Given the description of an element on the screen output the (x, y) to click on. 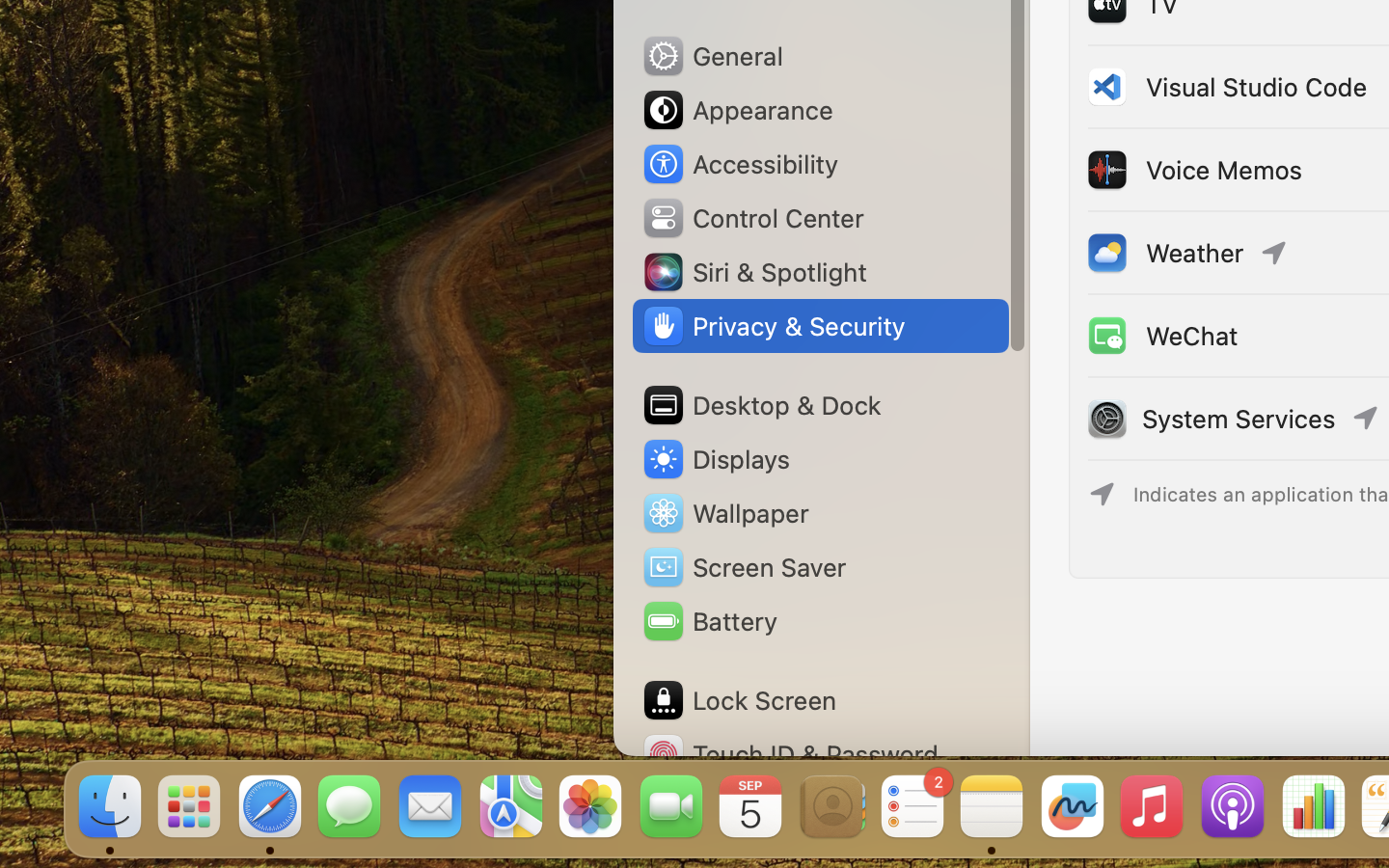
Battery Element type: AXStaticText (708, 620)
Weather Element type: AXStaticText (1164, 252)
Touch ID & Password Element type: AXStaticText (789, 754)
